Given the description of an element on the screen output the (x, y) to click on. 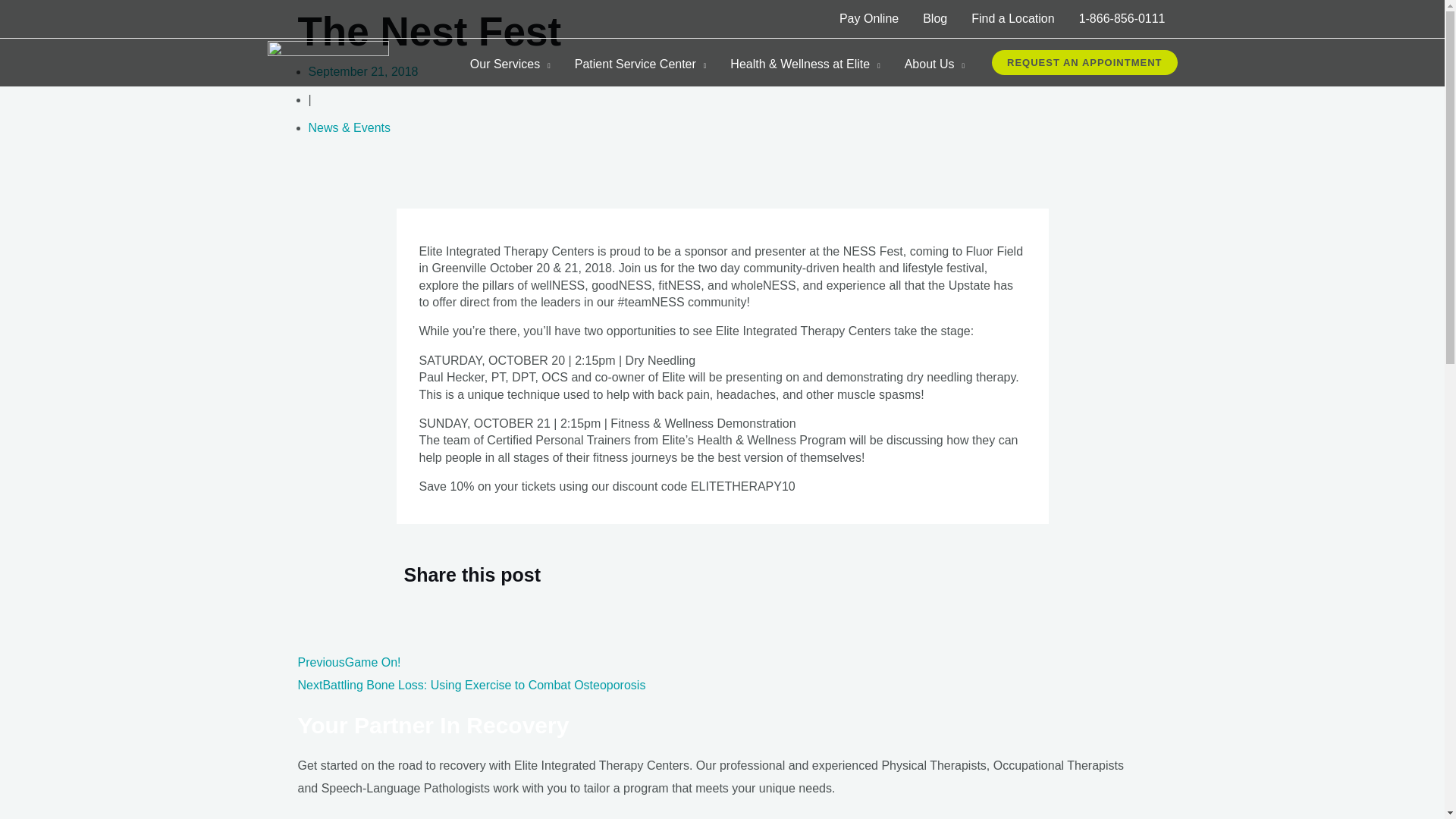
Patient Service Center (640, 64)
1-866-856-0111 (1122, 18)
Our Services (510, 64)
Find a Location (1012, 18)
Blog (935, 18)
Pay Online (869, 18)
REQUEST AN APPOINTMENT (1084, 62)
About Us (934, 64)
